Given the description of an element on the screen output the (x, y) to click on. 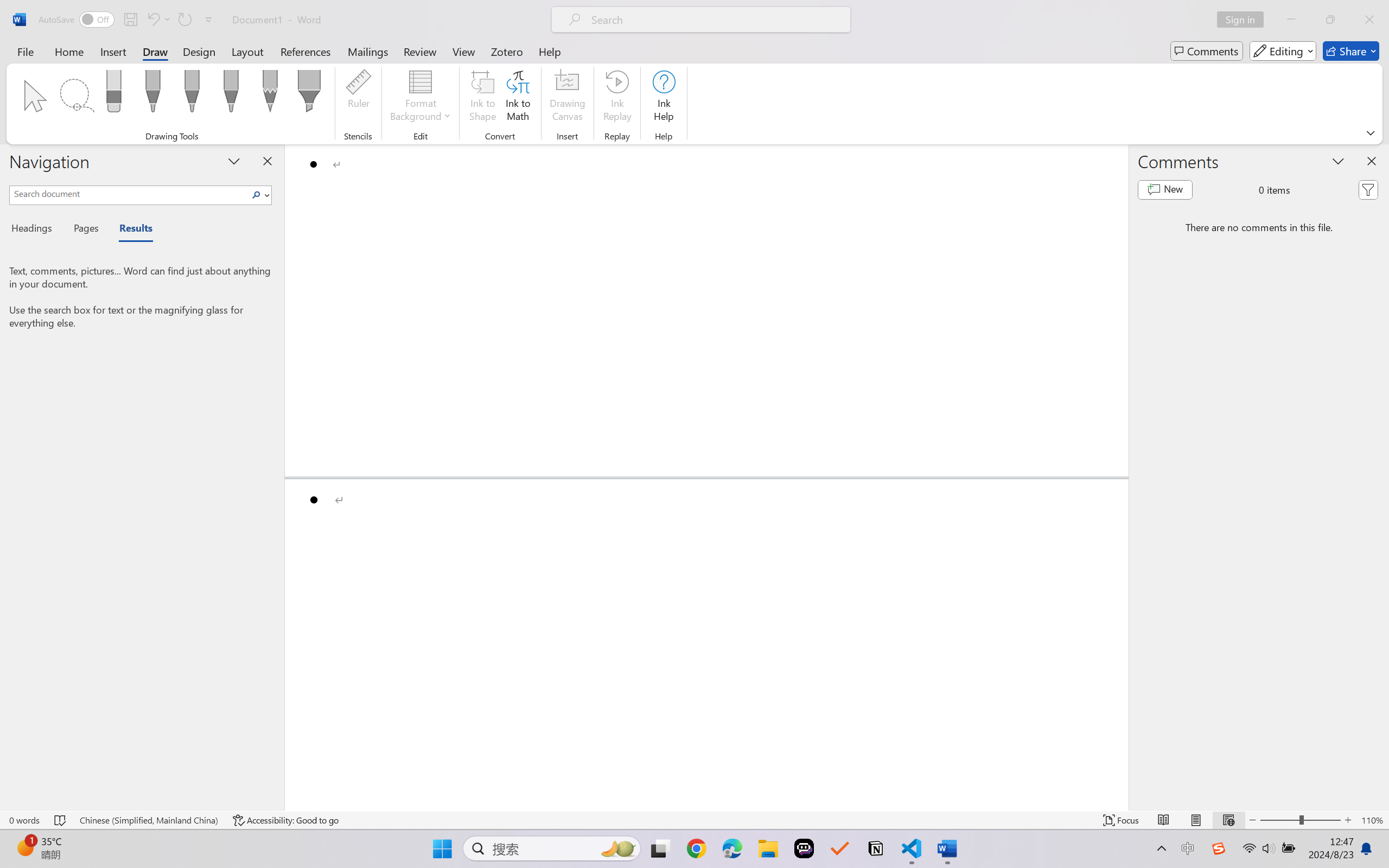
Pencil: Gray, 1 mm (270, 94)
Microsoft Edge (731, 848)
Zoom 110% (1372, 819)
Pen: Black, 0.5 mm (152, 94)
